Given the description of an element on the screen output the (x, y) to click on. 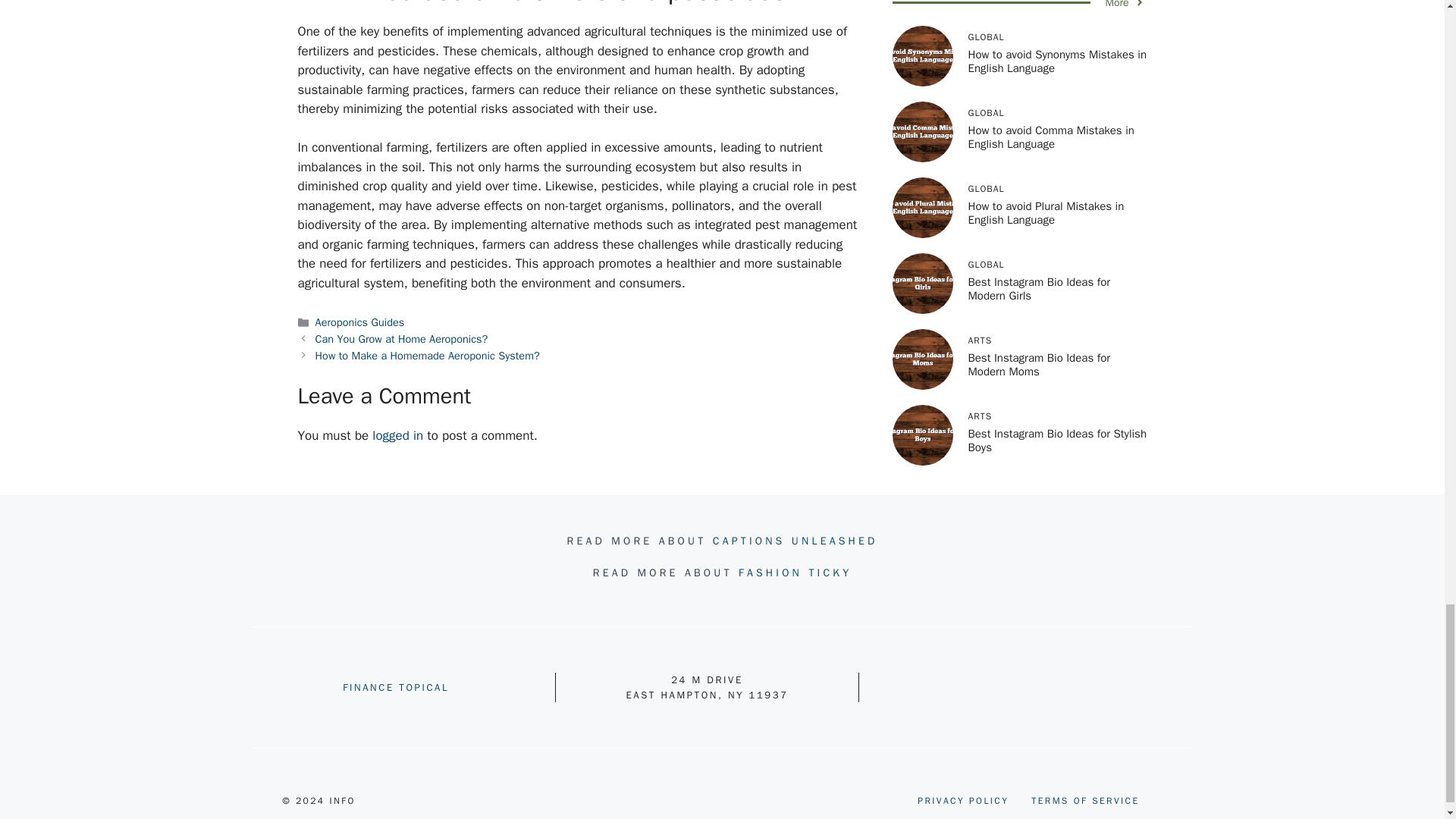
How to Make a Homemade Aeroponic System? (427, 355)
logged in (397, 435)
FINANCE TOPICAL (395, 686)
CAPTIONS UNLEASHED (795, 540)
FASHION TICKY (794, 572)
Aeroponics Guides (359, 322)
Can You Grow at Home Aeroponics? (401, 338)
